Given the description of an element on the screen output the (x, y) to click on. 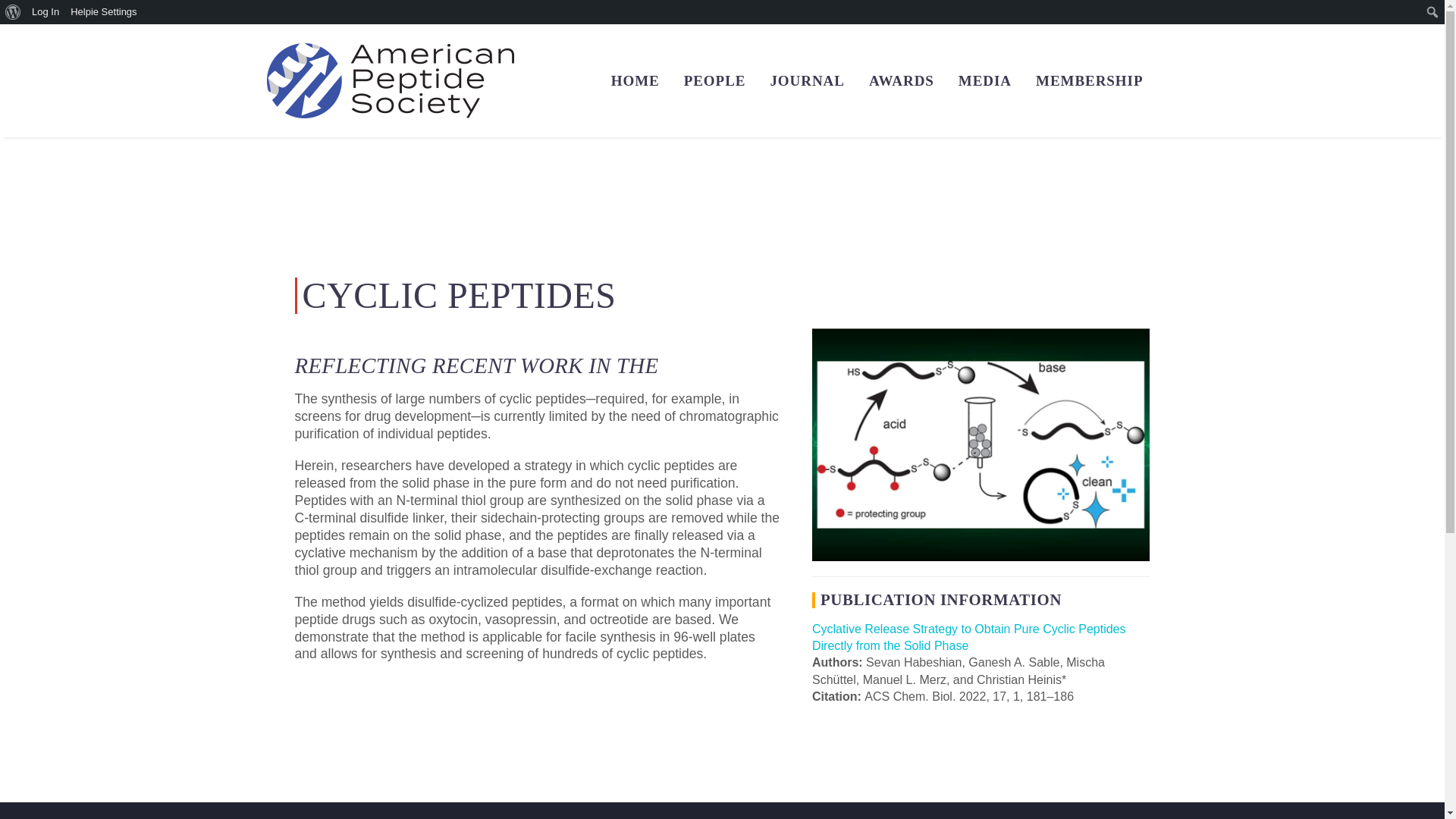
AWARDS (901, 80)
MEMBERSHIP (1088, 80)
PEOPLE (714, 80)
HOME (634, 80)
MEDIA (984, 80)
JOURNAL (807, 80)
